Given the description of an element on the screen output the (x, y) to click on. 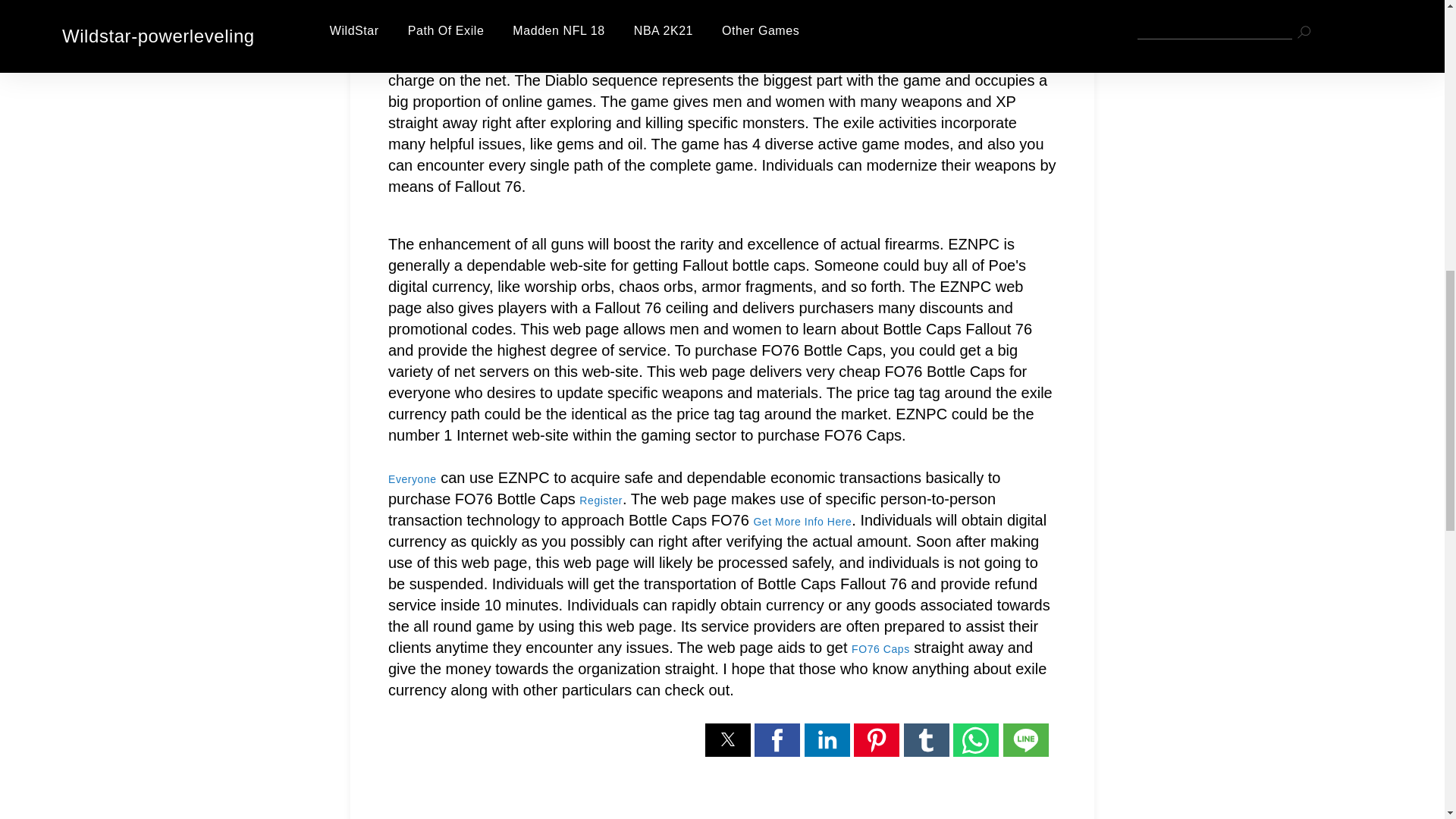
FO76 Caps (880, 648)
FO76 Caps (880, 648)
Register (601, 500)
Get More Info Here (801, 521)
Everyone (412, 479)
Get More Info Here (801, 521)
Everyone (412, 479)
Register (601, 500)
